Given the description of an element on the screen output the (x, y) to click on. 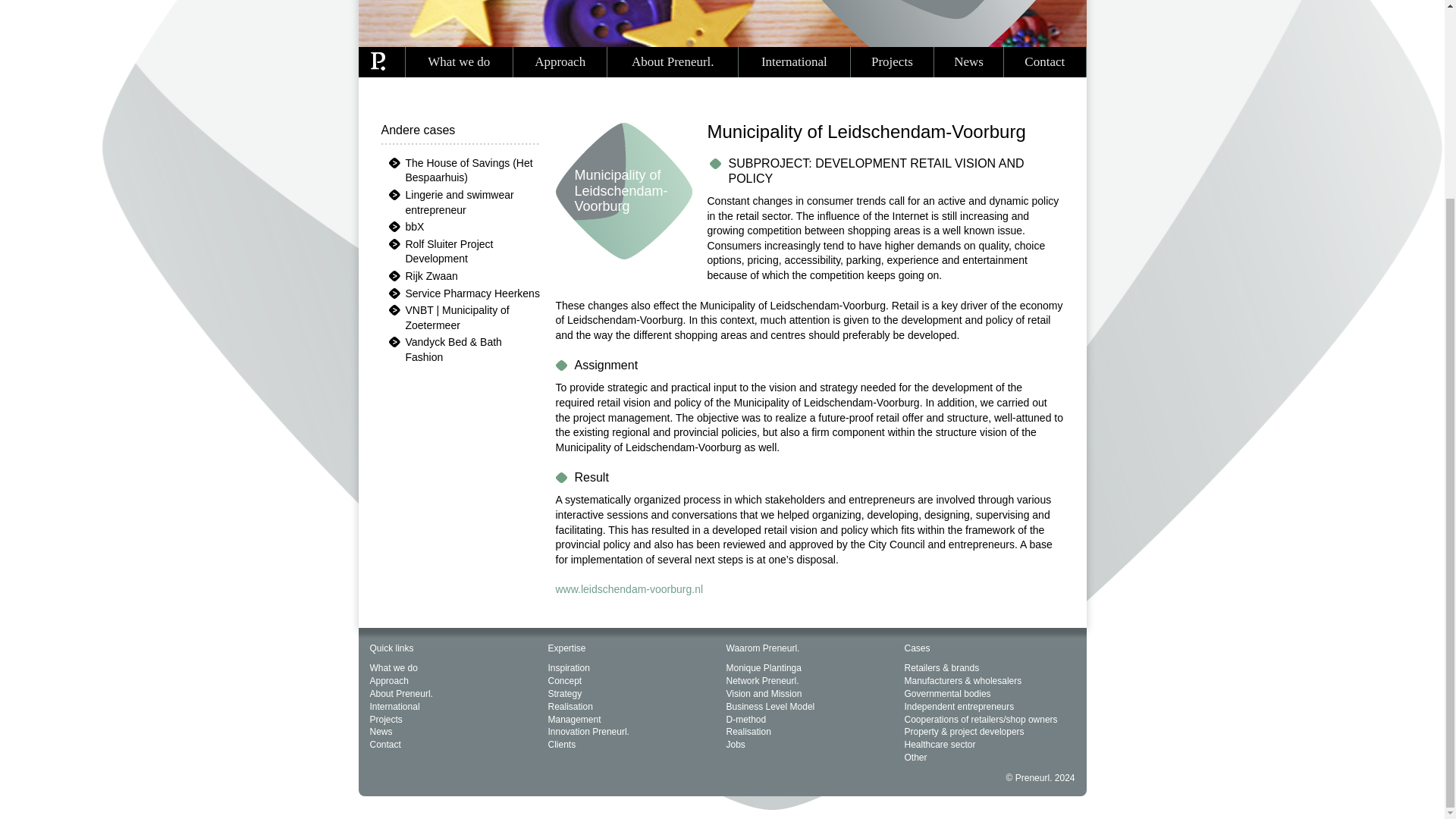
Projects (892, 61)
Approach (560, 61)
What we do (459, 61)
About Preneurl. (672, 61)
News (968, 61)
Home (377, 61)
International (794, 61)
